Given the description of an element on the screen output the (x, y) to click on. 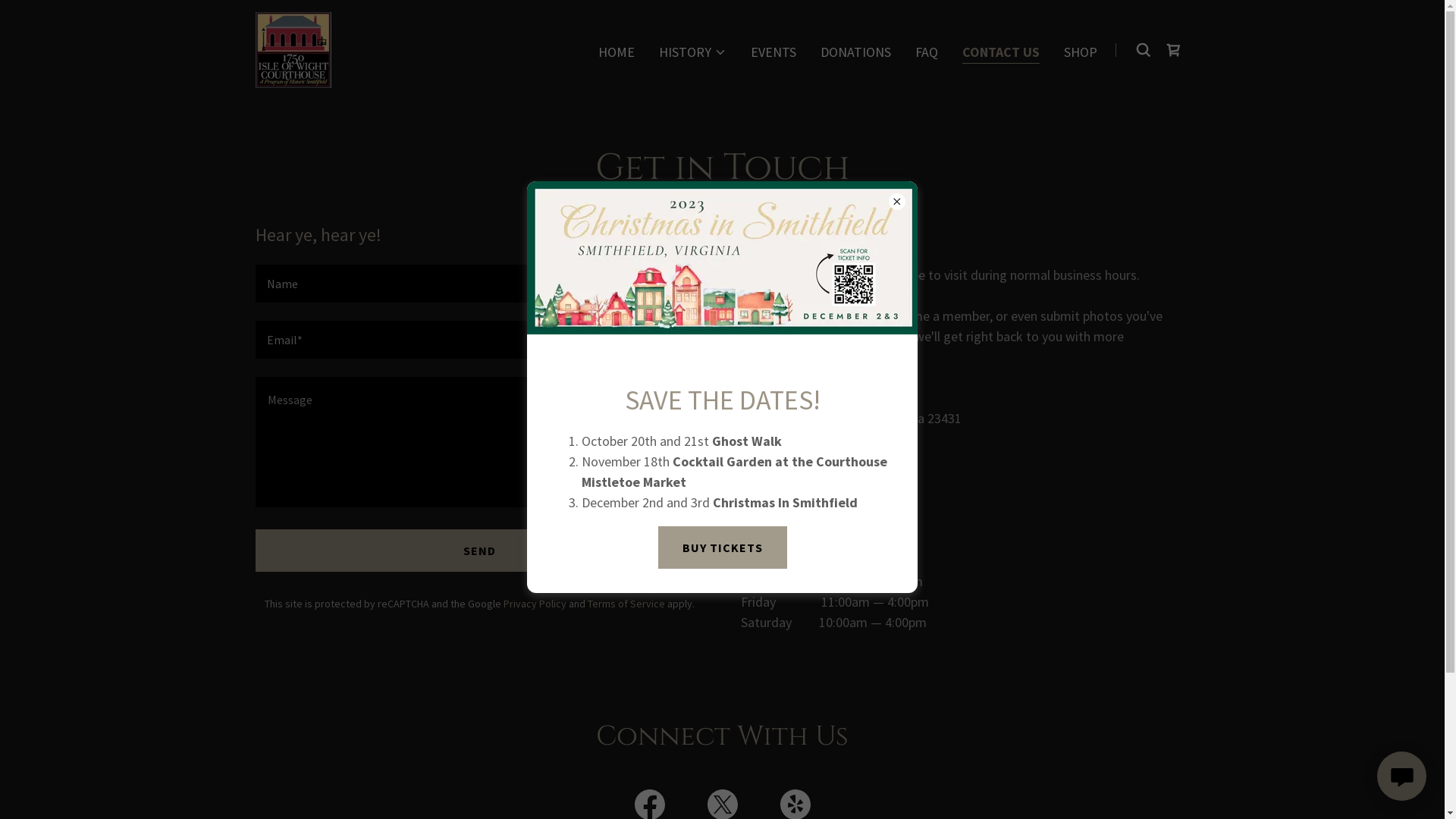
CONTACT US Element type: text (1000, 52)
SHOP Element type: text (1080, 51)
SEND Element type: text (478, 550)
HISTORY Element type: text (692, 51)
Terms of Service Element type: text (626, 603)
BUY TICKETS Element type: text (722, 547)
1750 Courthouse Element type: hover (292, 47)
1750courthouse@gmail.com Element type: text (821, 468)
(757)356-9016 Element type: text (780, 489)
DONATIONS Element type: text (855, 51)
Privacy Policy Element type: text (534, 603)
EVENTS Element type: text (773, 51)
FAQ Element type: text (926, 51)
HOME Element type: text (616, 51)
